Given the description of an element on the screen output the (x, y) to click on. 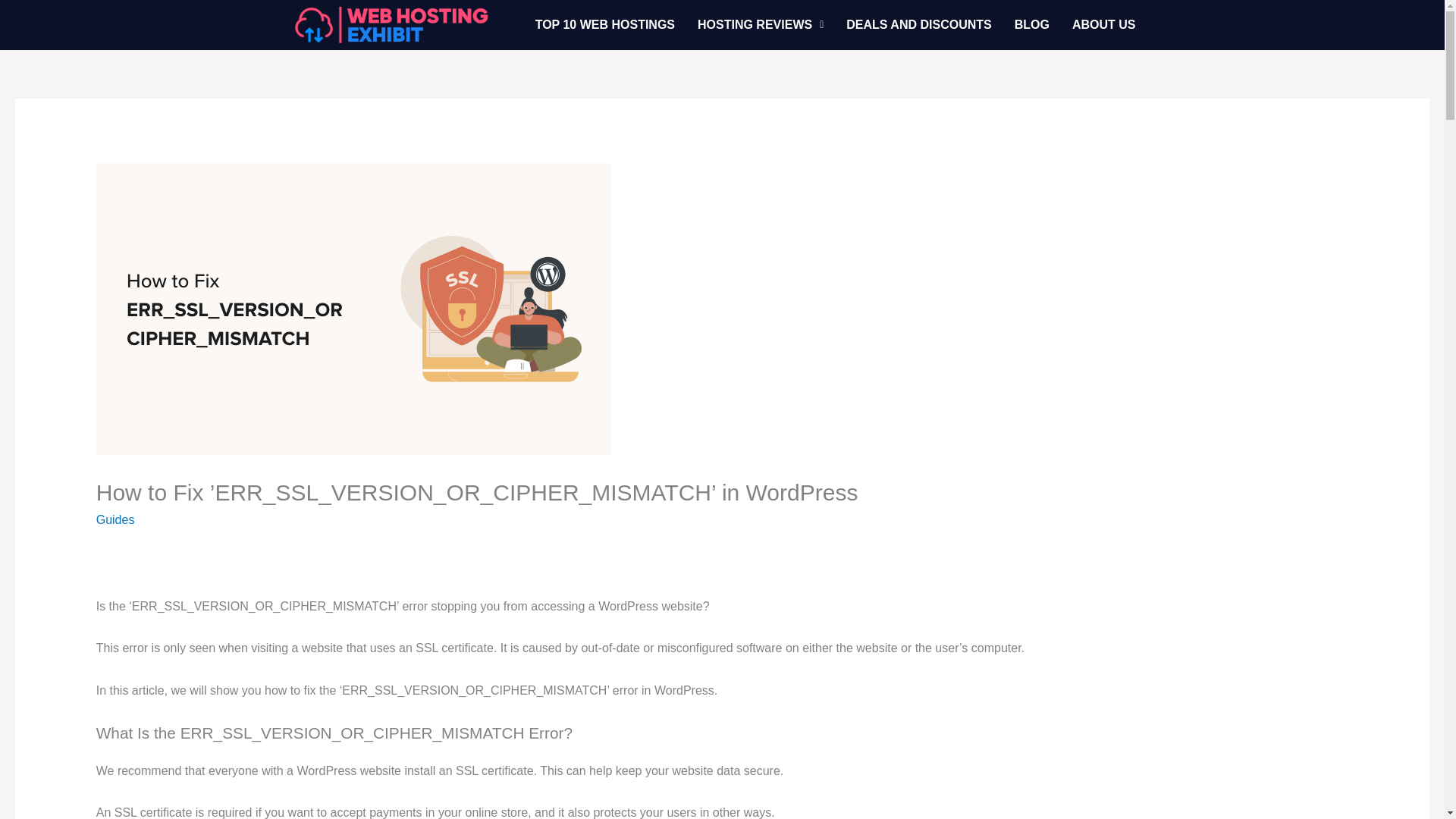
DEALS AND DISCOUNTS (918, 24)
ABOUT US (1104, 24)
TOP 10 WEB HOSTINGS (604, 24)
BLOG (1032, 24)
Guides (115, 519)
HOSTING REVIEWS (759, 24)
